Given the description of an element on the screen output the (x, y) to click on. 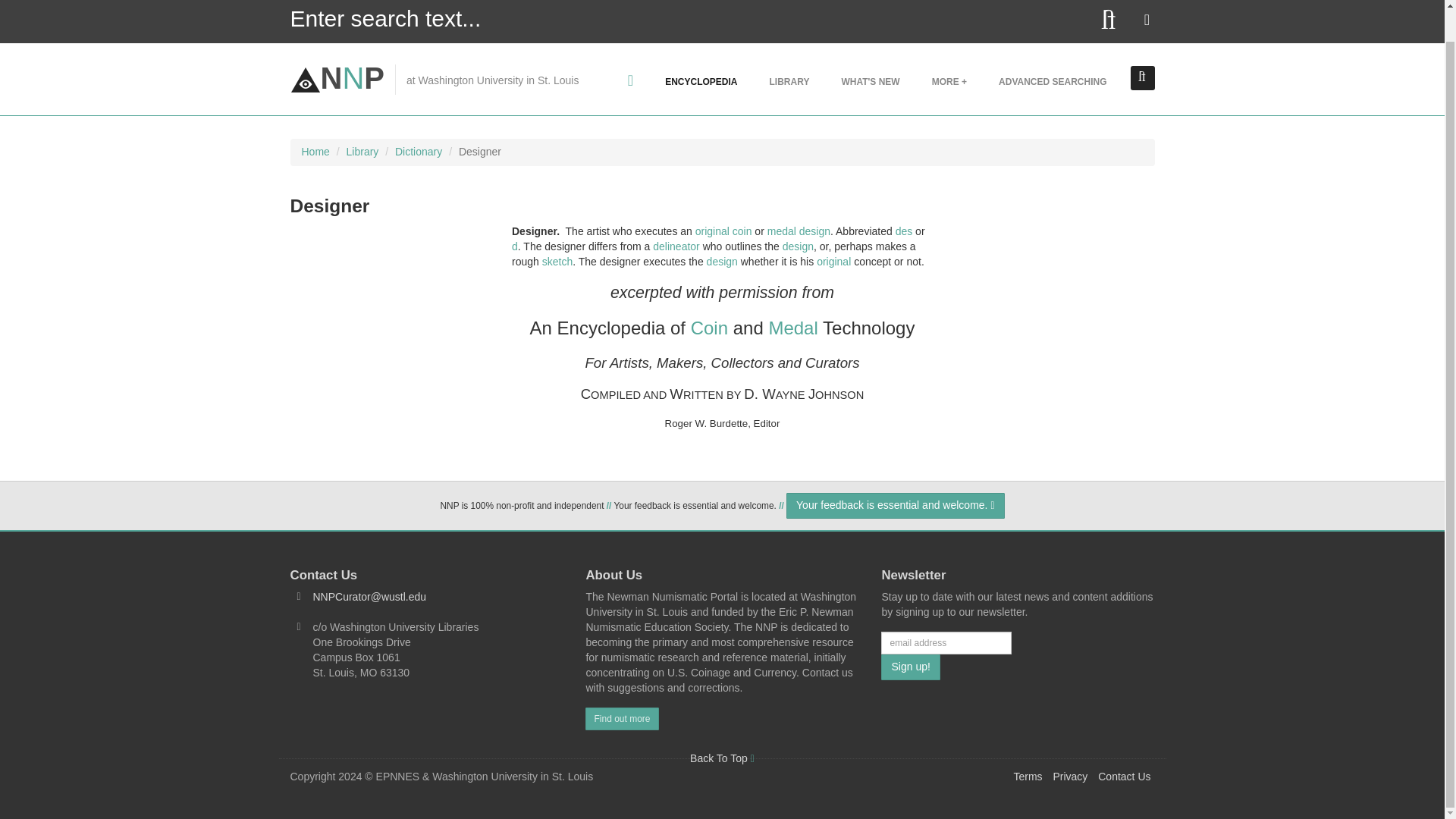
Sign up! (909, 667)
Home (315, 151)
WHAT'S NEW (870, 81)
ADVANCED SEARCHING (1052, 81)
Home (336, 78)
ENCYCLOPEDIA (700, 81)
NNP (336, 78)
LIBRARY (789, 81)
Back to top (722, 758)
